Given the description of an element on the screen output the (x, y) to click on. 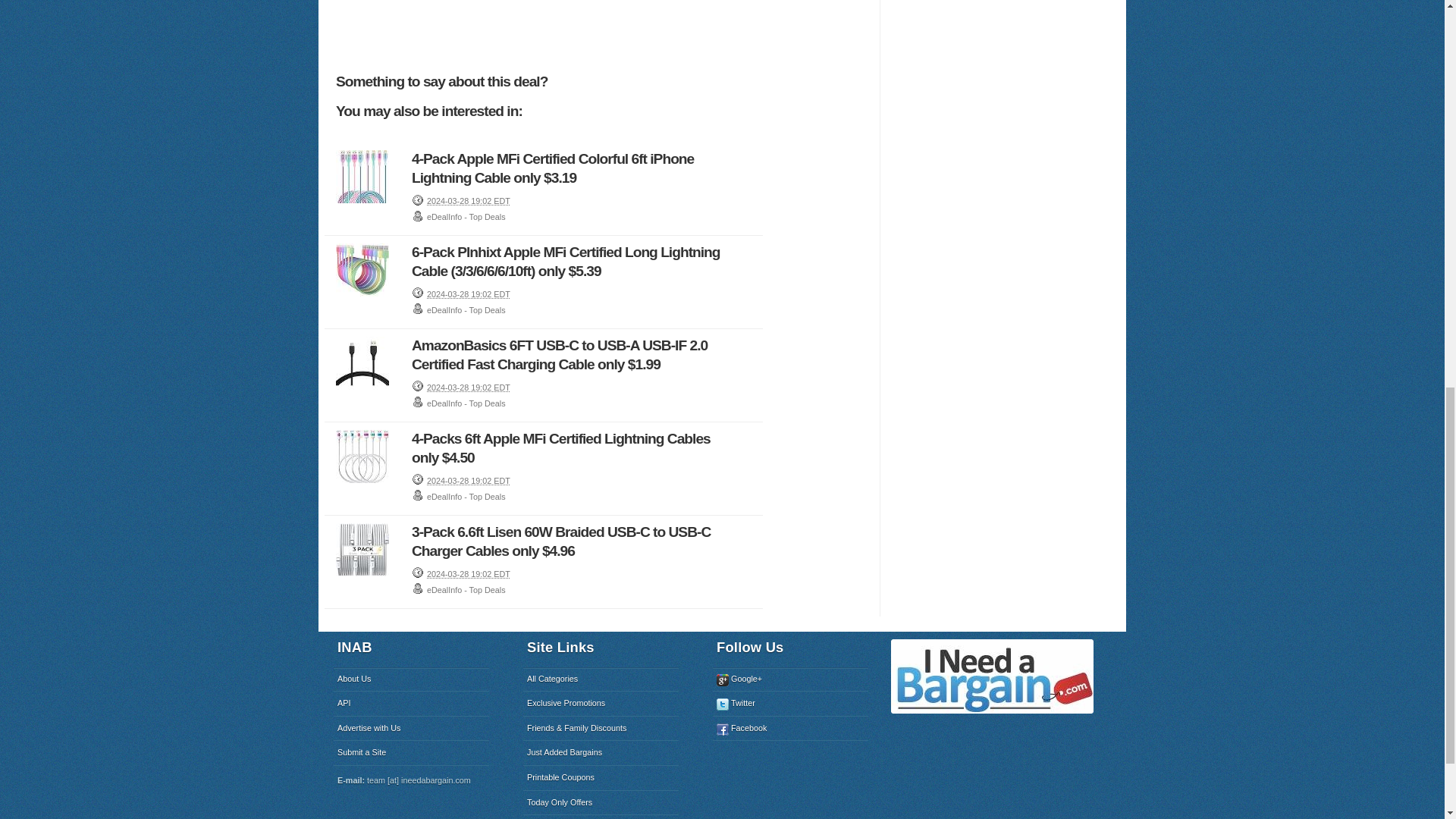
Exclusive Promotions (600, 703)
2024-03-26 21:02:21 -0400 (468, 480)
Advertisement (606, 30)
2024-04-03 16:32:22 -0400 (468, 200)
Submit a Site (411, 752)
About Us (411, 679)
Advertise with Us (411, 728)
API (411, 703)
2024-03-29 13:32:26 -0400 (468, 387)
2024-03-26 13:02:21 -0400 (468, 573)
